Given the description of an element on the screen output the (x, y) to click on. 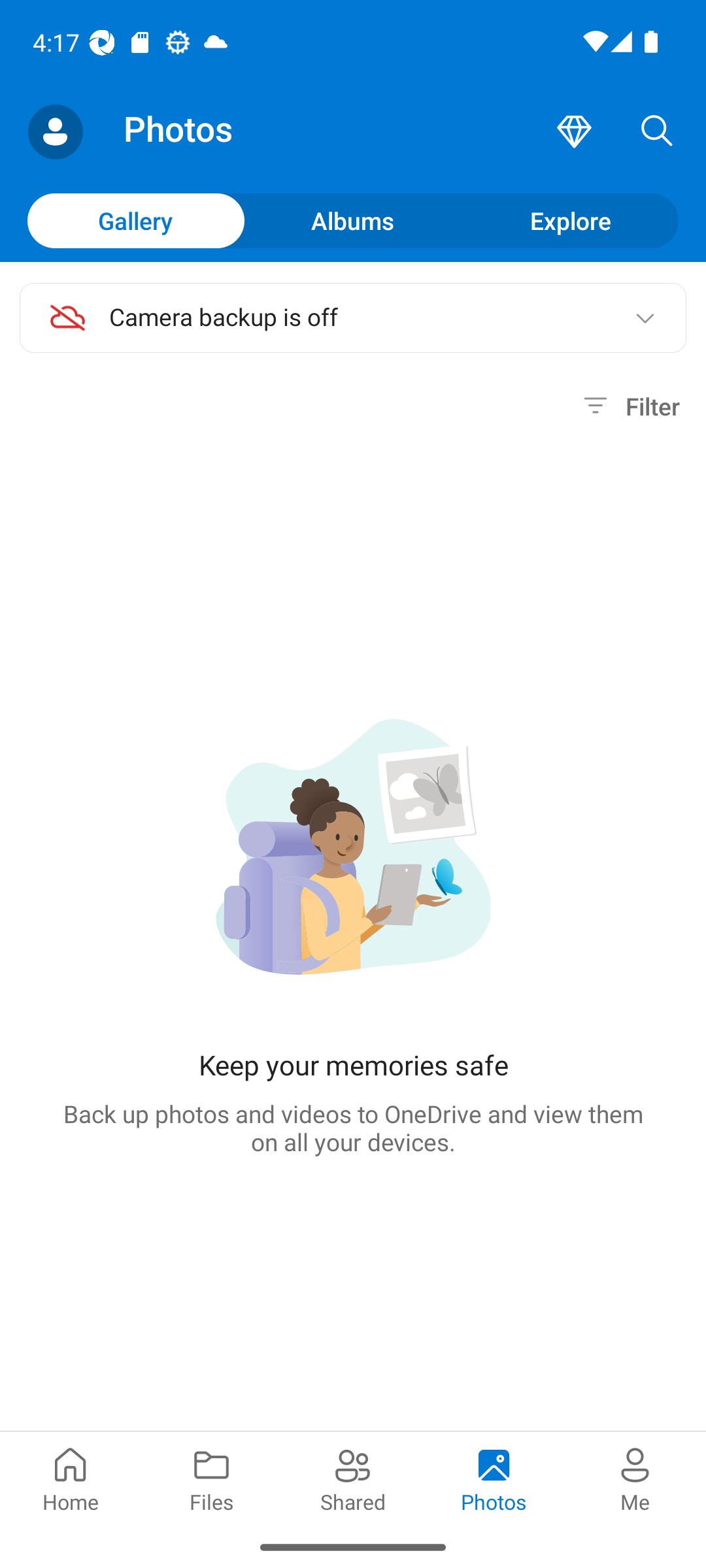
Account switcher (55, 131)
Premium button (574, 131)
Search button (656, 131)
Albums (352, 219)
Explore (569, 219)
Expand camera status banner (645, 318)
Filter (628, 405)
Home pivot Home (70, 1478)
Files pivot Files (211, 1478)
Shared pivot Shared (352, 1478)
Me pivot Me (635, 1478)
